Given the description of an element on the screen output the (x, y) to click on. 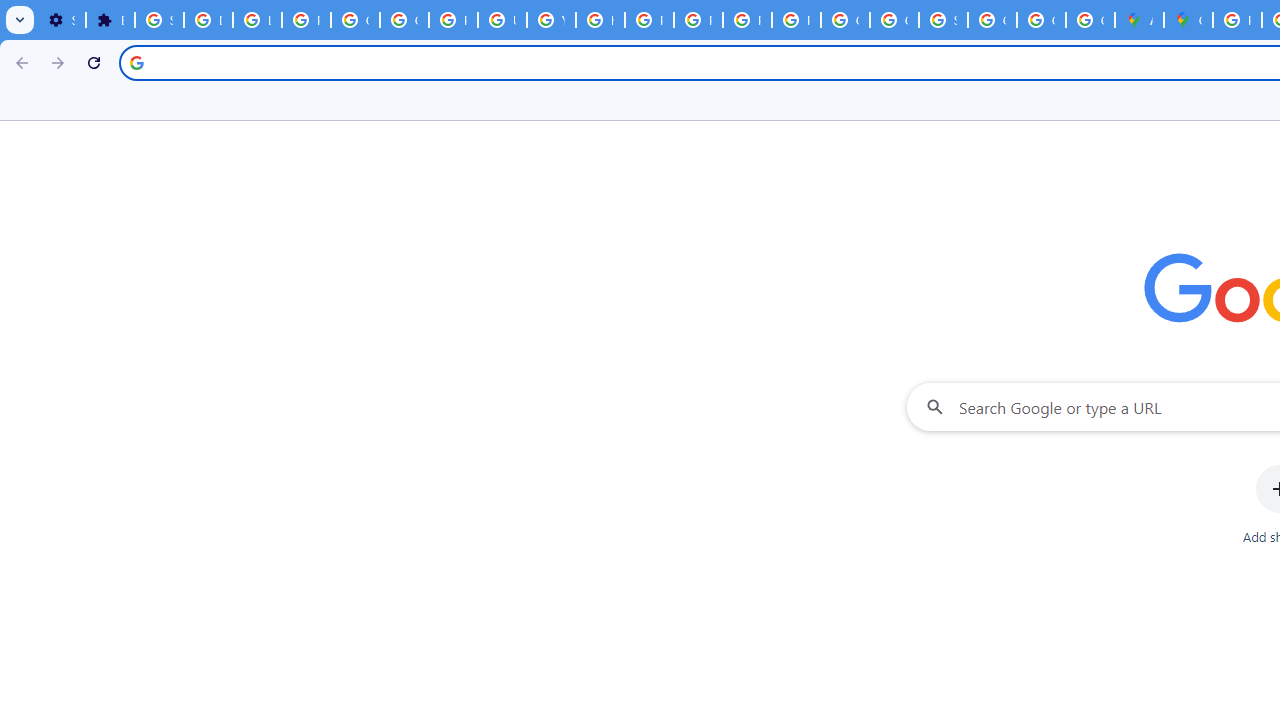
Settings - On startup (61, 20)
Google Maps (1188, 20)
Google Account Help (404, 20)
Extensions (109, 20)
https://scholar.google.com/ (600, 20)
Search icon (136, 62)
Learn how to find your photos - Google Photos Help (257, 20)
Policy Accountability and Transparency - Transparency Center (1237, 20)
Sign in - Google Accounts (943, 20)
Create your Google Account (1090, 20)
